Given the description of an element on the screen output the (x, y) to click on. 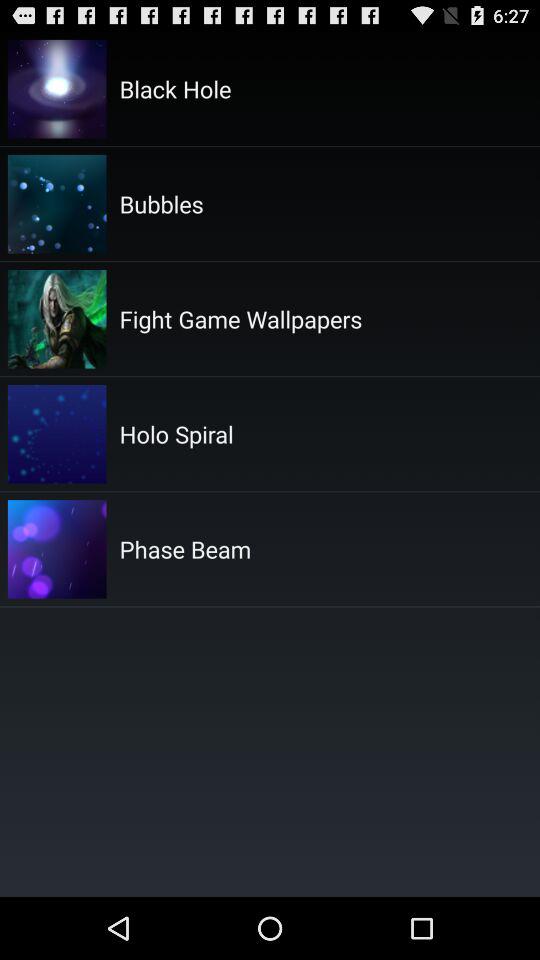
turn off the item below black hole (161, 203)
